Given the description of an element on the screen output the (x, y) to click on. 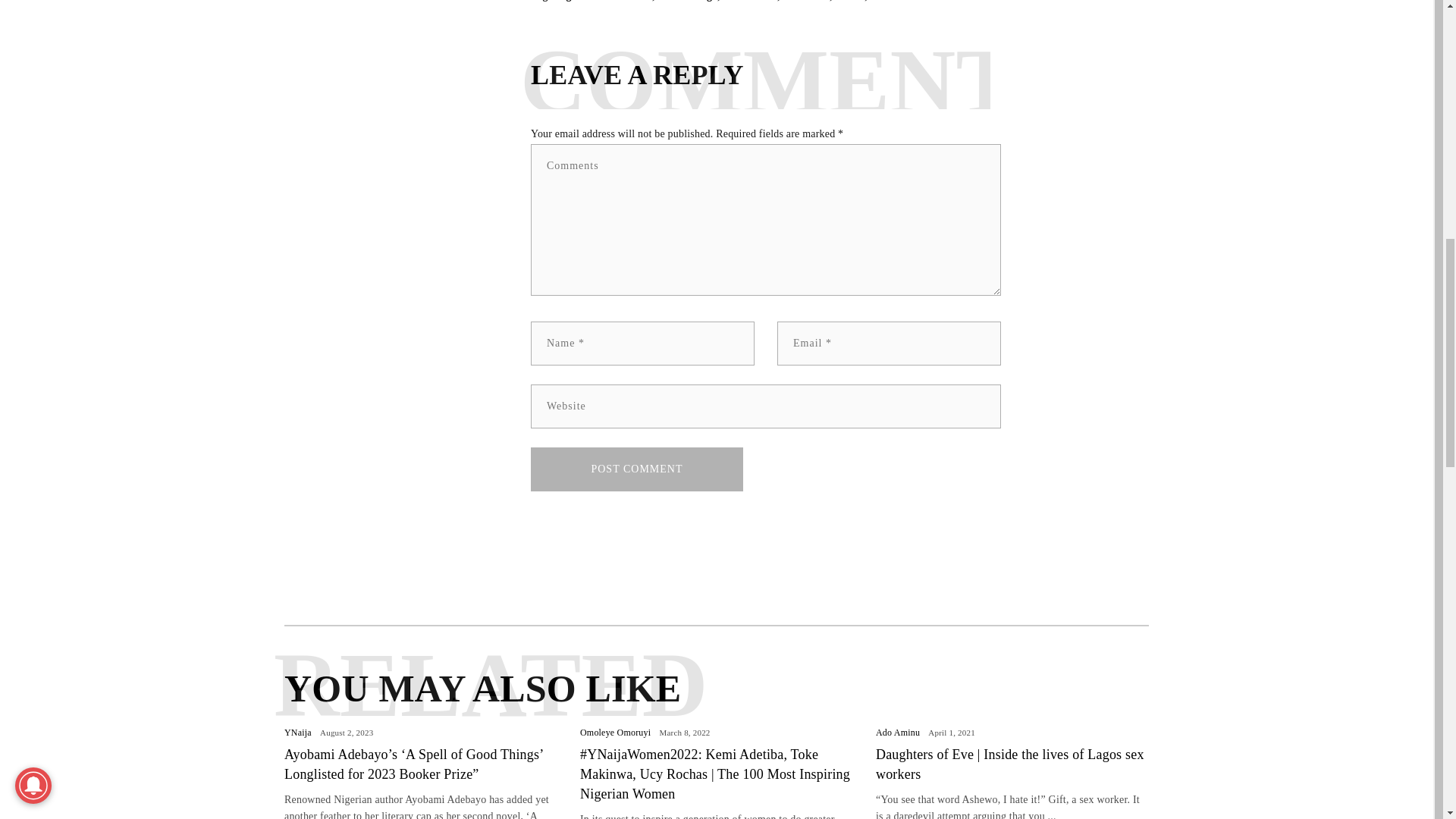
Post Comment (636, 469)
